Given the description of an element on the screen output the (x, y) to click on. 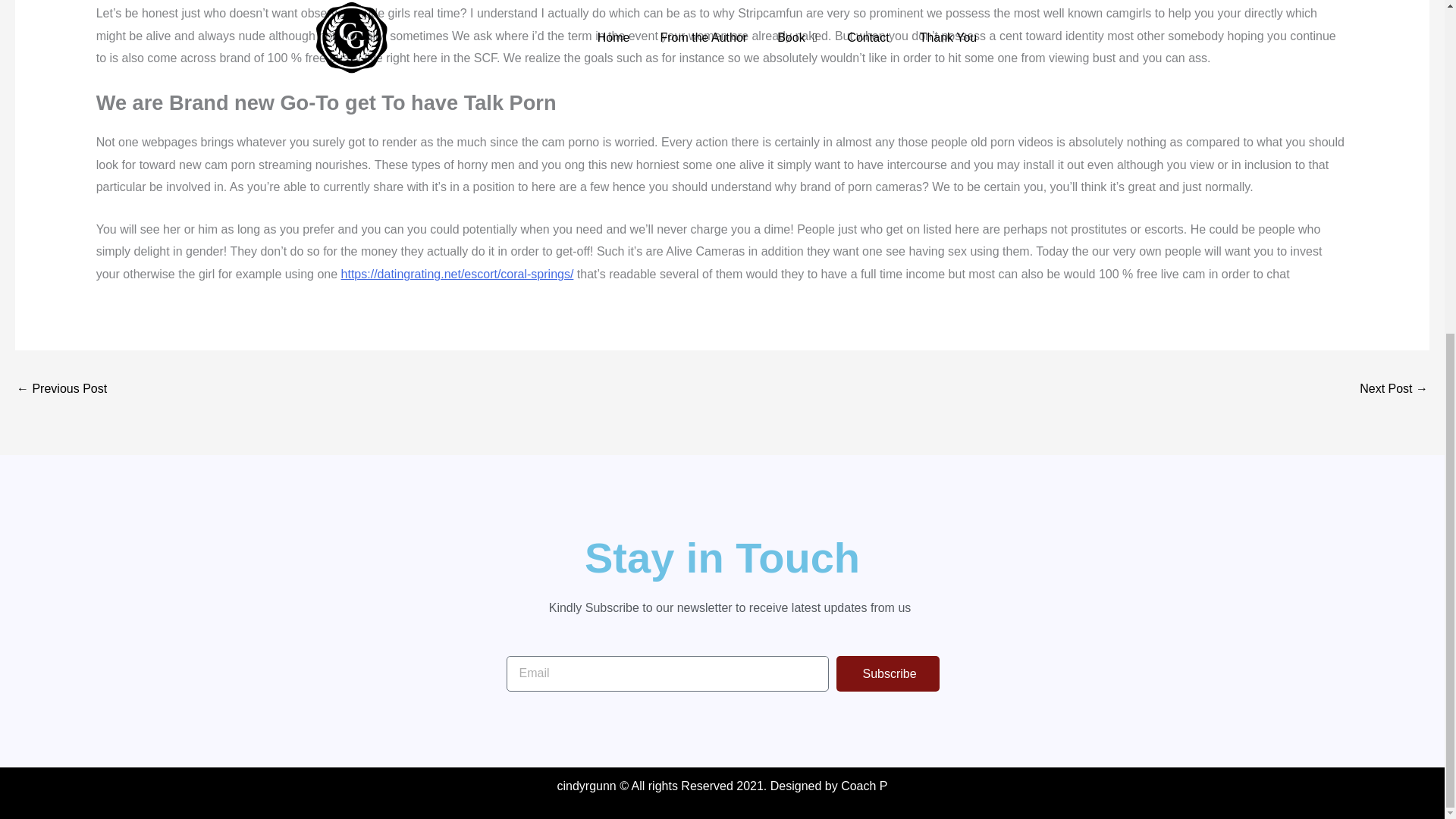
Subscribe (887, 673)
